Given the description of an element on the screen output the (x, y) to click on. 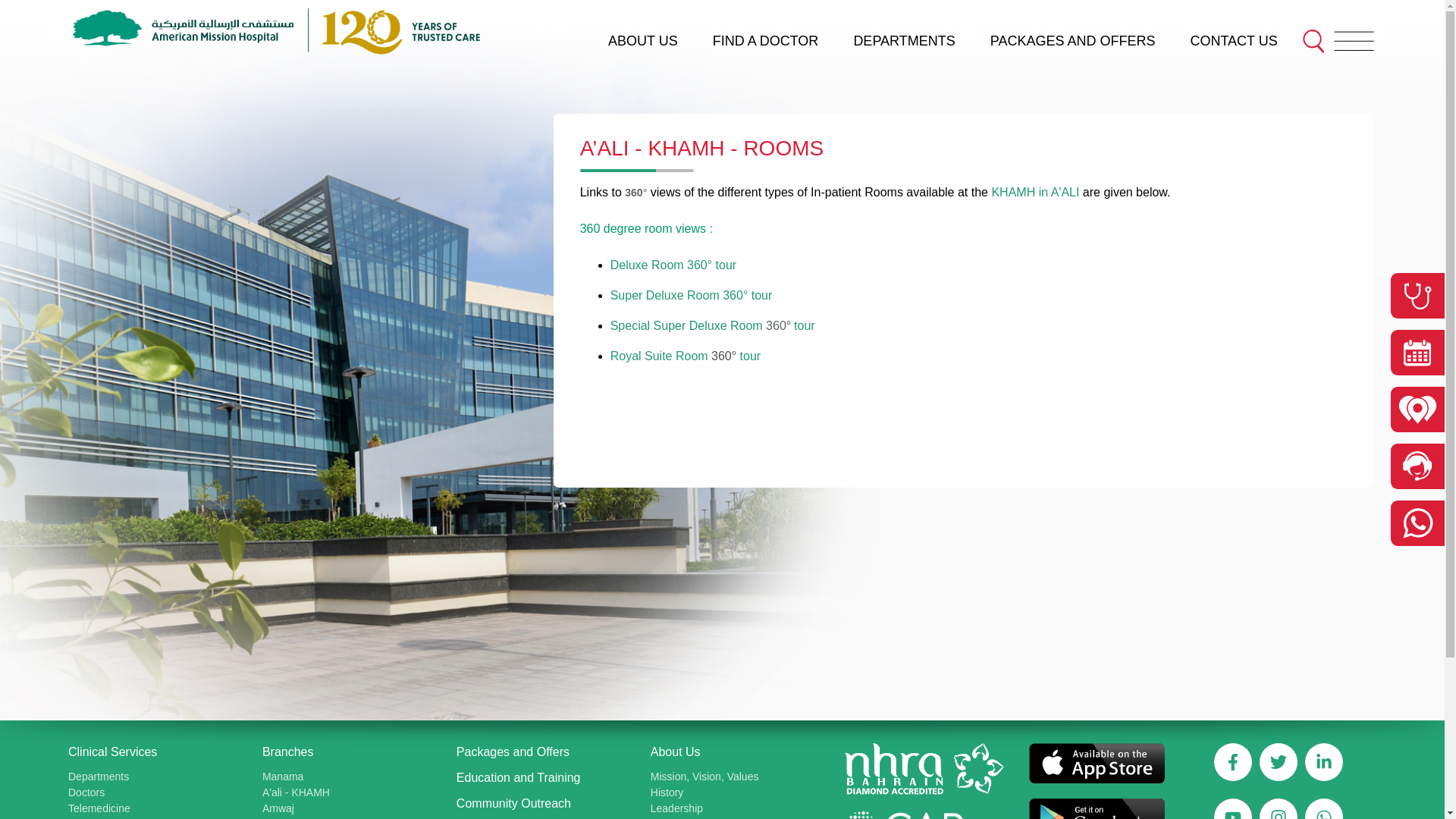
DEPARTMENTS (903, 40)
PACKAGES AND OFFERS (1072, 40)
ABOUT US (643, 40)
CONTACT US (1233, 40)
FIND A DOCTOR (765, 40)
